Given the description of an element on the screen output the (x, y) to click on. 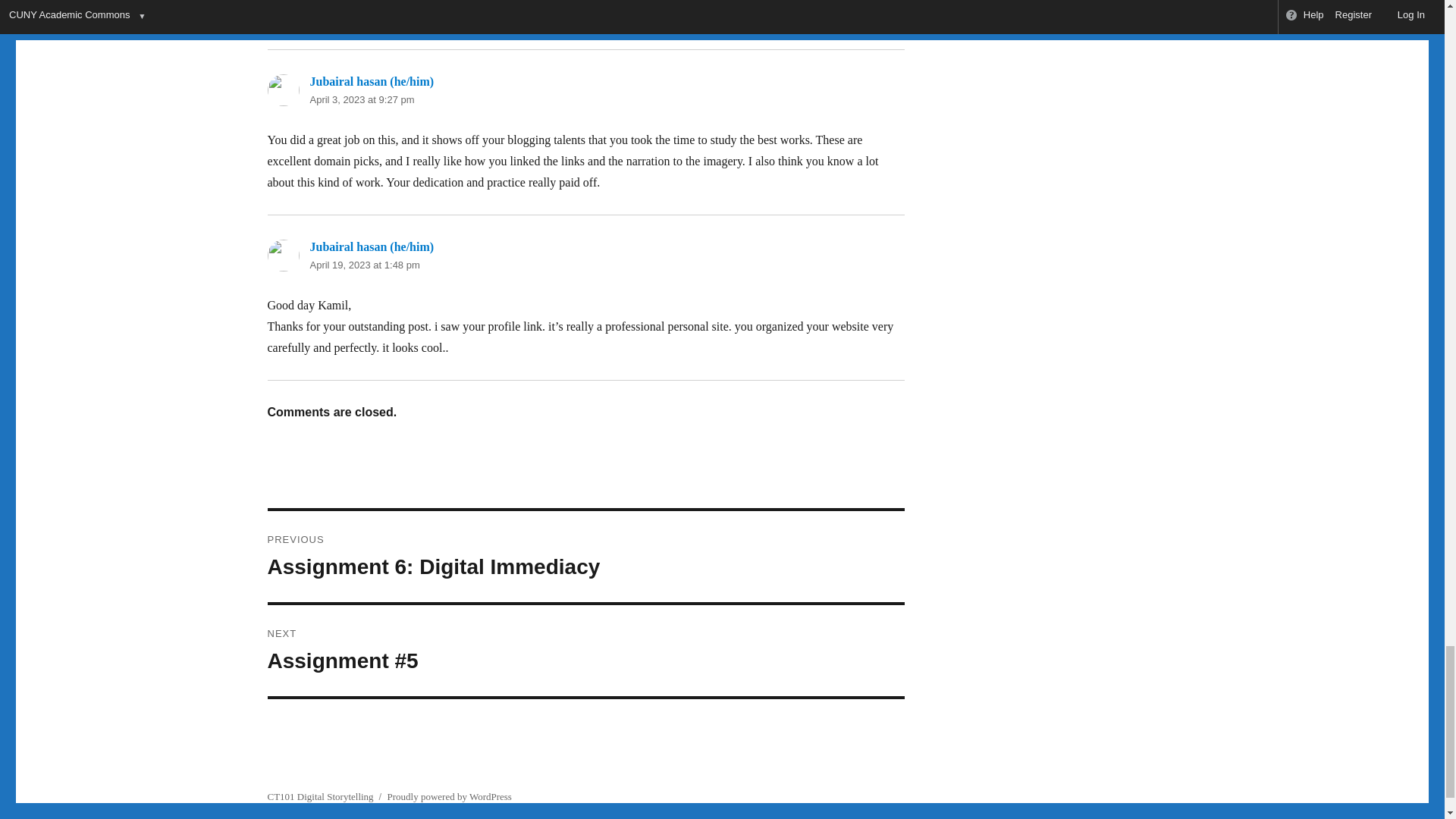
April 19, 2023 at 1:48 pm (363, 265)
April 3, 2023 at 9:27 pm (360, 99)
